Given the description of an element on the screen output the (x, y) to click on. 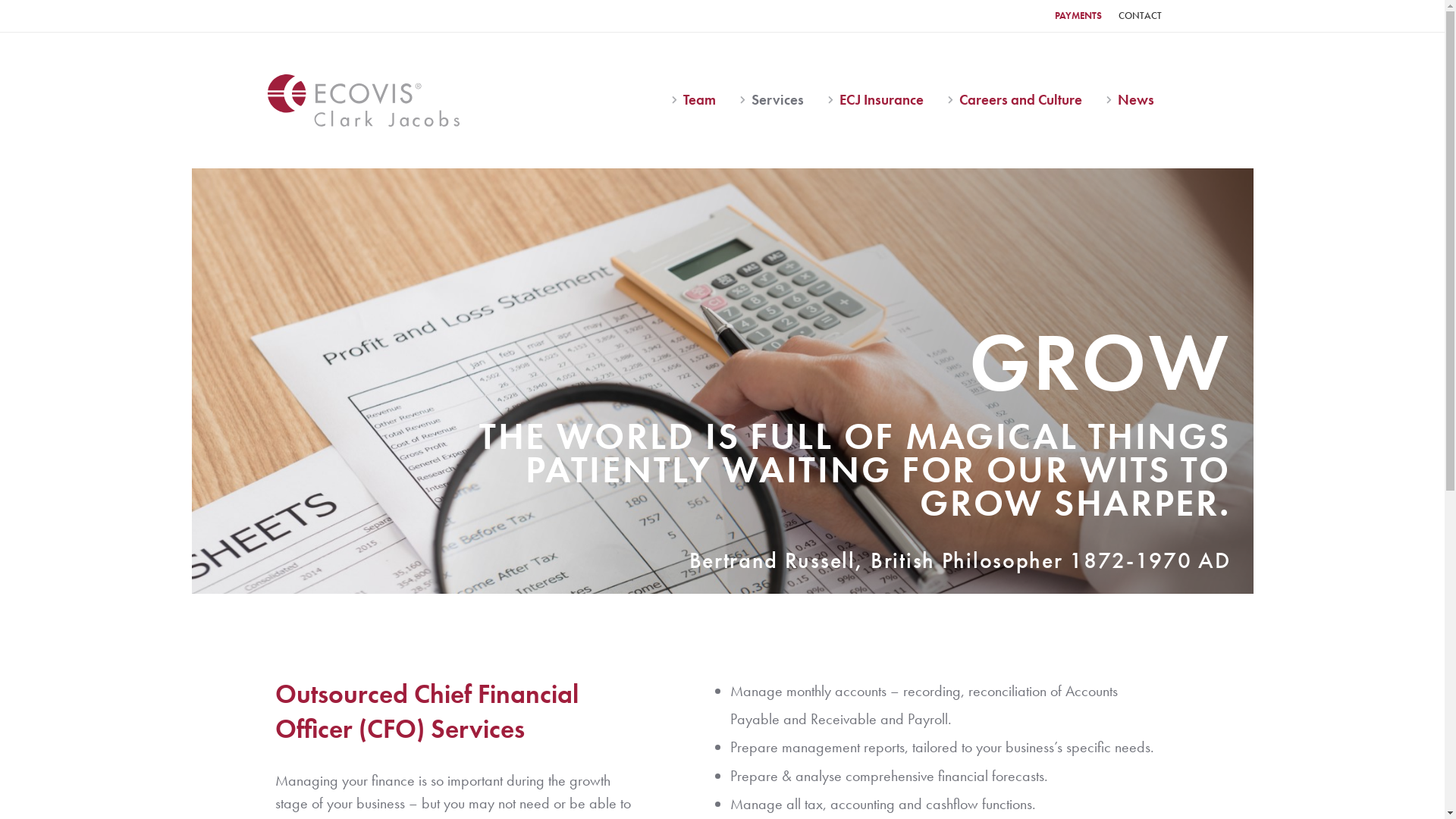
PAYMENTS Element type: text (1078, 15)
Careers and Culture Element type: text (1017, 100)
Services Element type: text (775, 100)
Team Element type: text (696, 100)
logo_ecovis_clark-jacobs Element type: hover (362, 100)
CONTACT Element type: text (1140, 15)
News Element type: text (1133, 100)
ECJ Insurance Element type: text (878, 100)
